Given the description of an element on the screen output the (x, y) to click on. 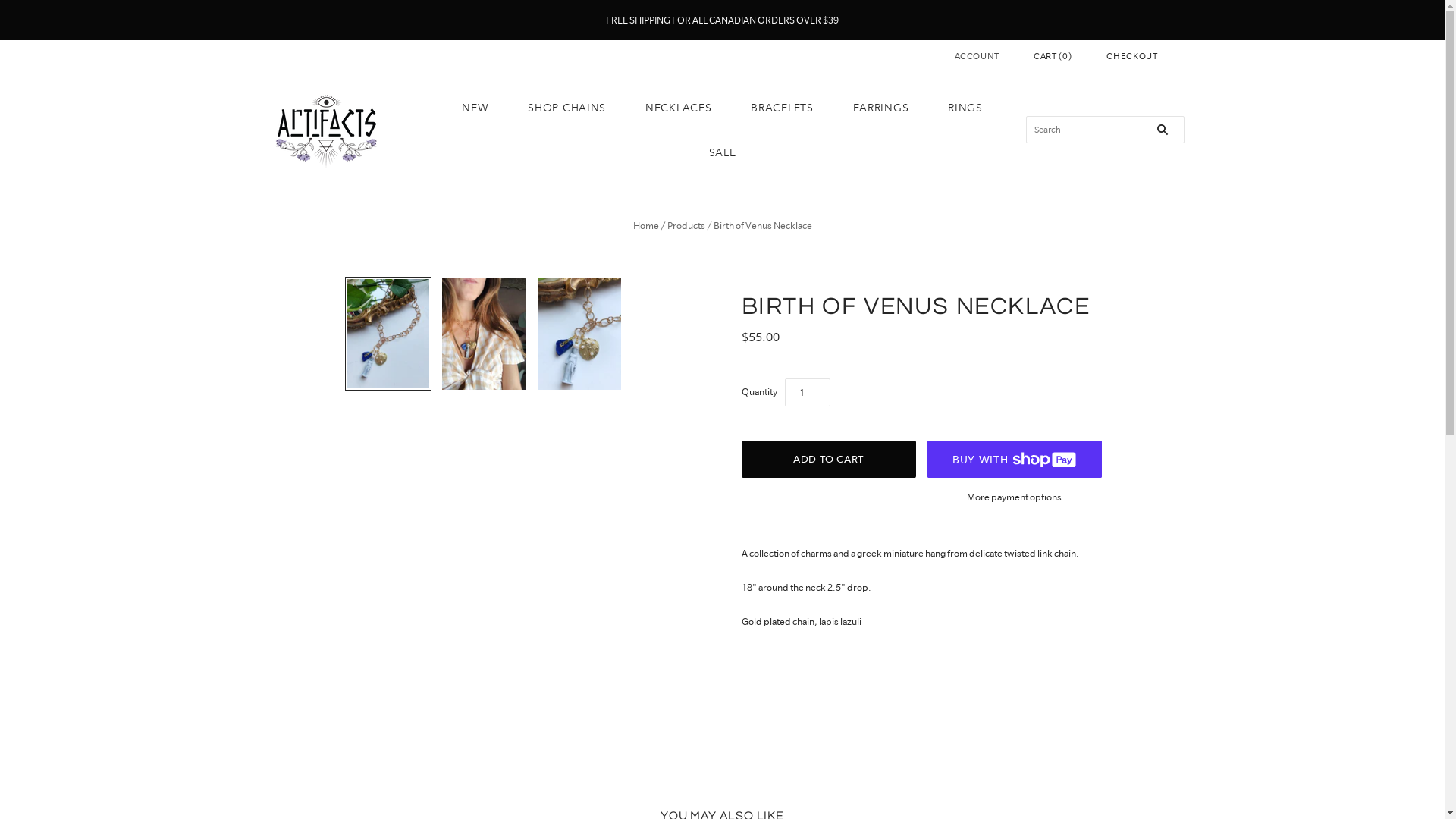
EARRINGS Element type: text (880, 107)
FREE SHIPPING FOR ALL CANADIAN ORDERS OVER $39 Element type: text (722, 20)
SALE Element type: text (722, 152)
CART (0) Element type: text (1052, 56)
Home Element type: text (645, 225)
Add to cart Element type: text (828, 458)
CHECKOUT Element type: text (1131, 56)
ACCOUNT Element type: text (976, 55)
RINGS Element type: text (965, 107)
SHOP CHAINS Element type: text (566, 107)
NEW Element type: text (475, 107)
More payment options Element type: text (1013, 497)
NECKLACES Element type: text (678, 107)
Products Element type: text (686, 225)
BRACELETS Element type: text (781, 107)
